Given the description of an element on the screen output the (x, y) to click on. 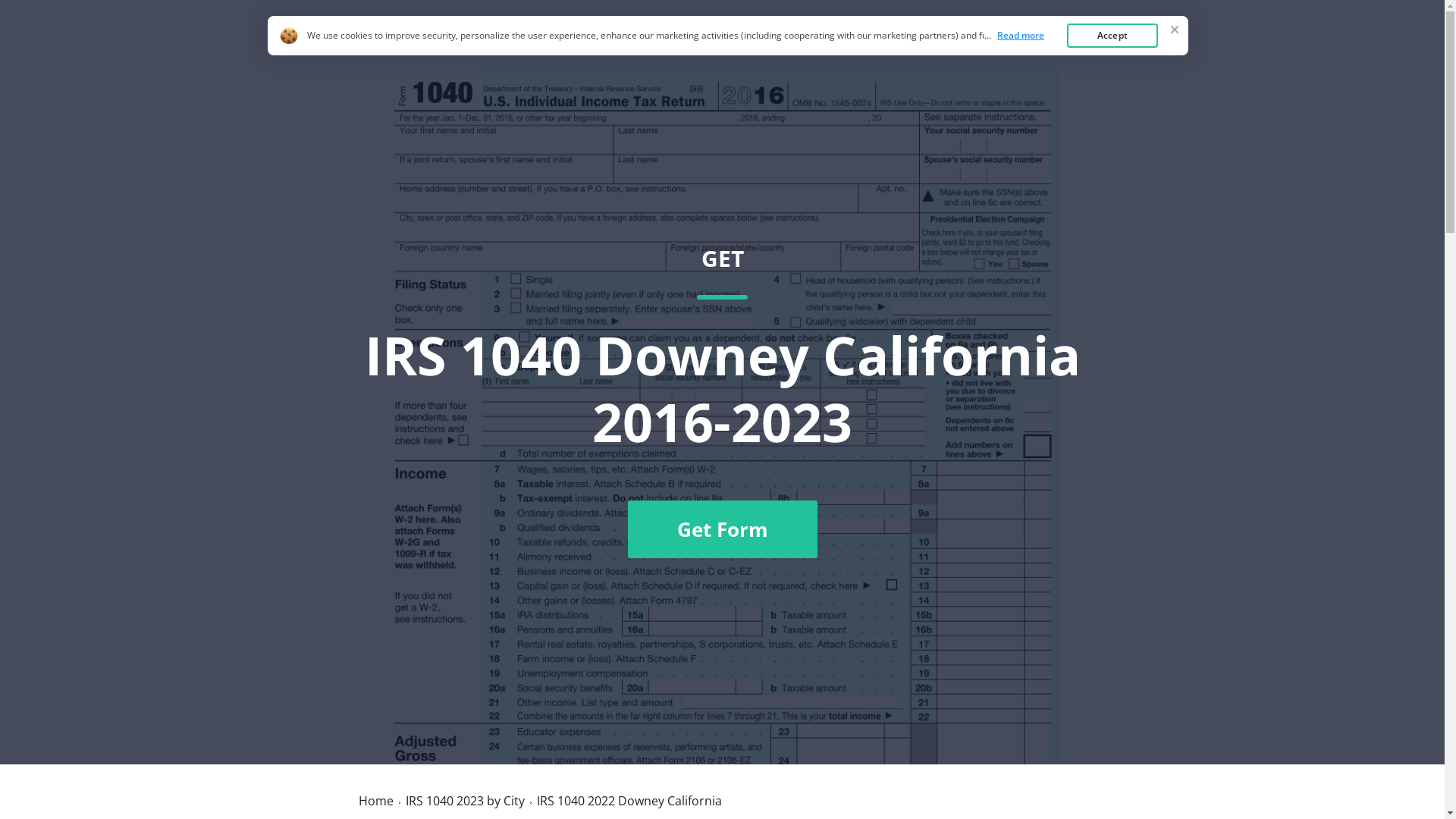
IRS 1040 2023 by City Element type: text (464, 800)
Home Element type: text (986, 47)
Top Forms Element type: text (1062, 47)
2016 Form 1040 Element type: text (422, 46)
Home Element type: text (374, 800)
Accept Element type: text (1111, 35)
GET
IRS 1040 Downey California 2016-2023
Get Form Element type: text (721, 400)
